Given the description of an element on the screen output the (x, y) to click on. 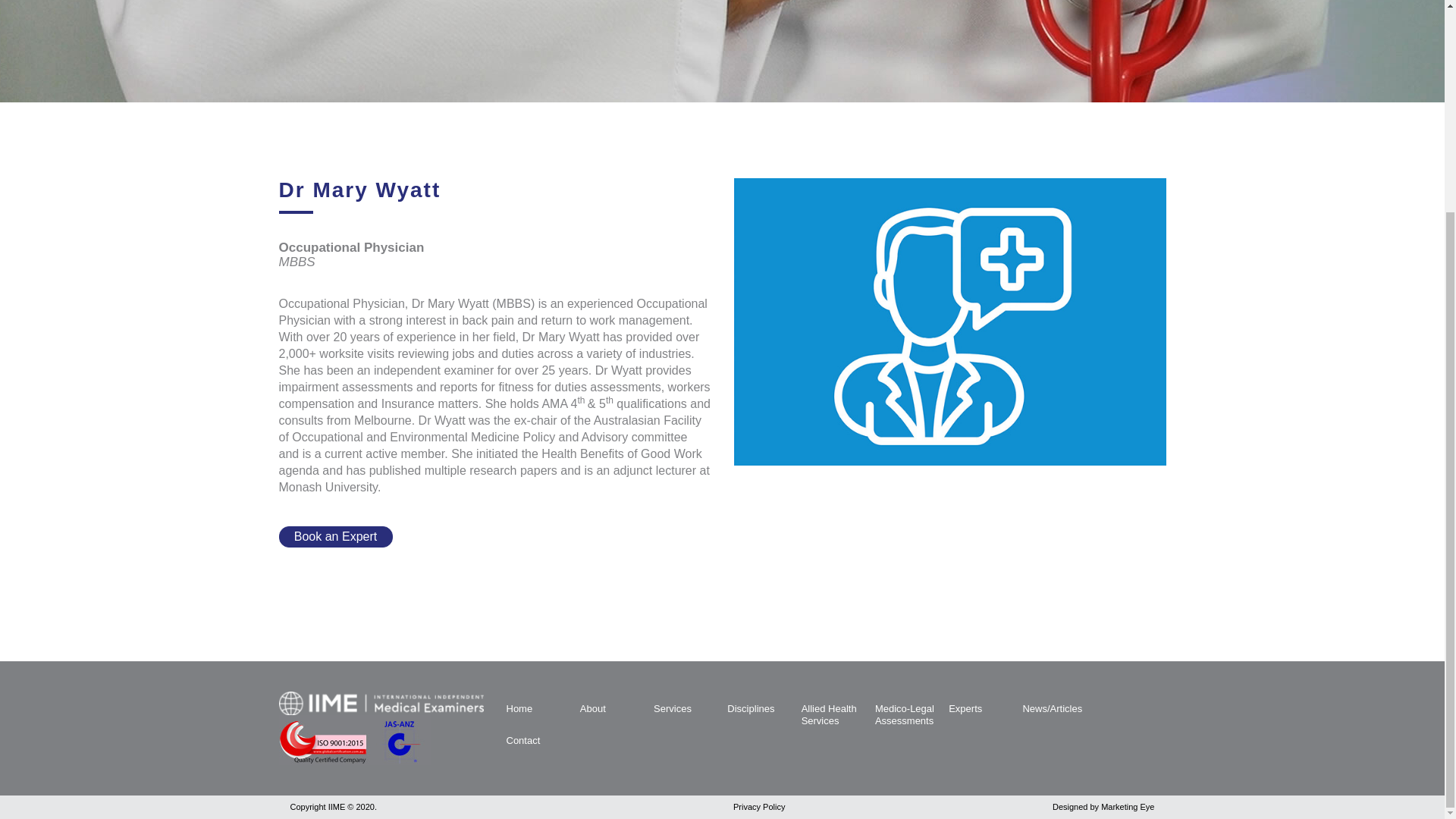
Allied Health Services (829, 714)
Contact (523, 740)
Privacy Policy (758, 806)
Services (672, 708)
About (592, 708)
Experts (965, 708)
Home (519, 708)
Marketing Eye (1127, 806)
Medico-Legal Assessments (904, 714)
Book an Expert (336, 536)
